Given the description of an element on the screen output the (x, y) to click on. 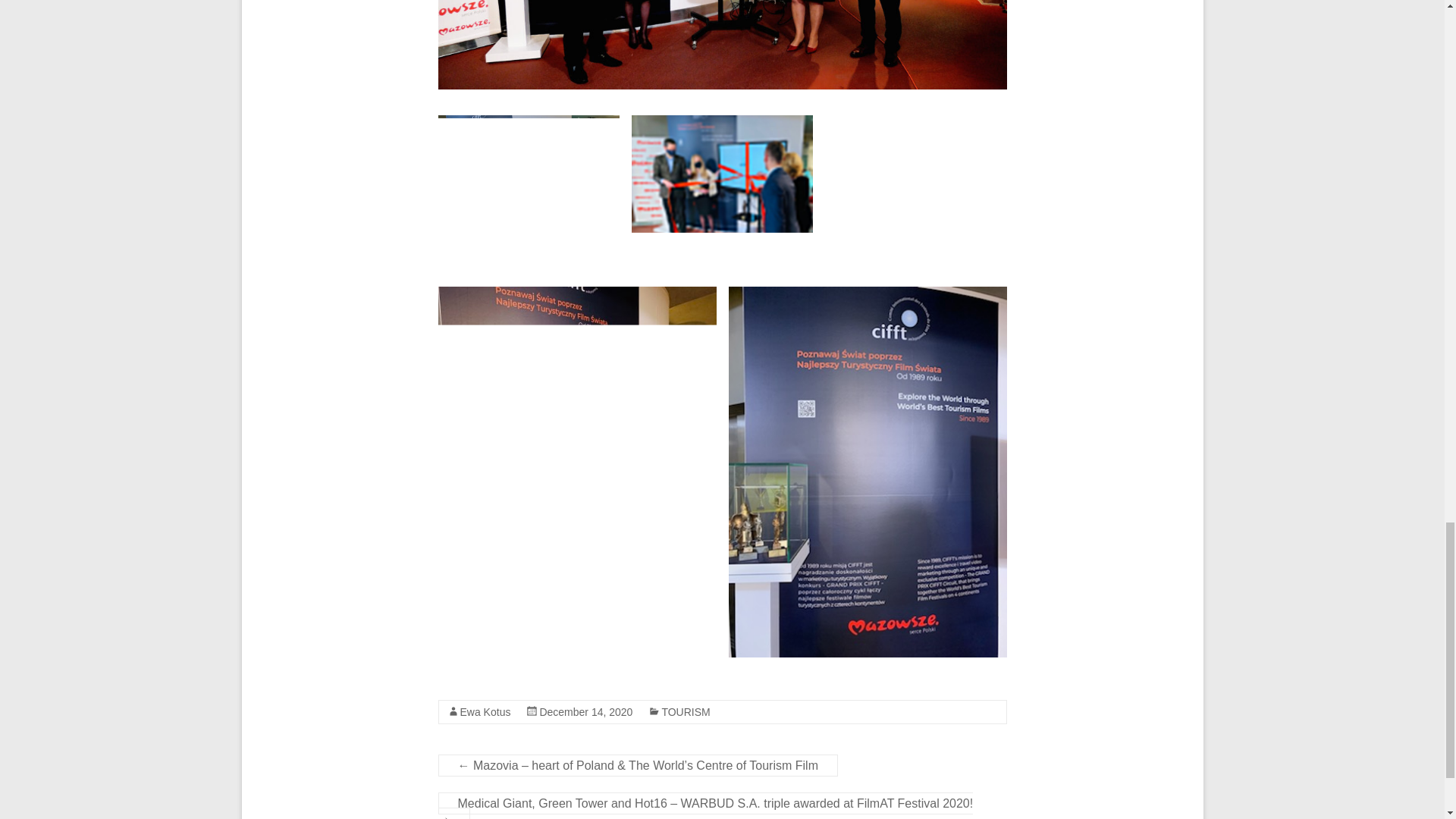
Ewa Kotus (485, 711)
December 14, 2020 (584, 711)
5:05 PM (584, 711)
TOURISM (685, 711)
